Given the description of an element on the screen output the (x, y) to click on. 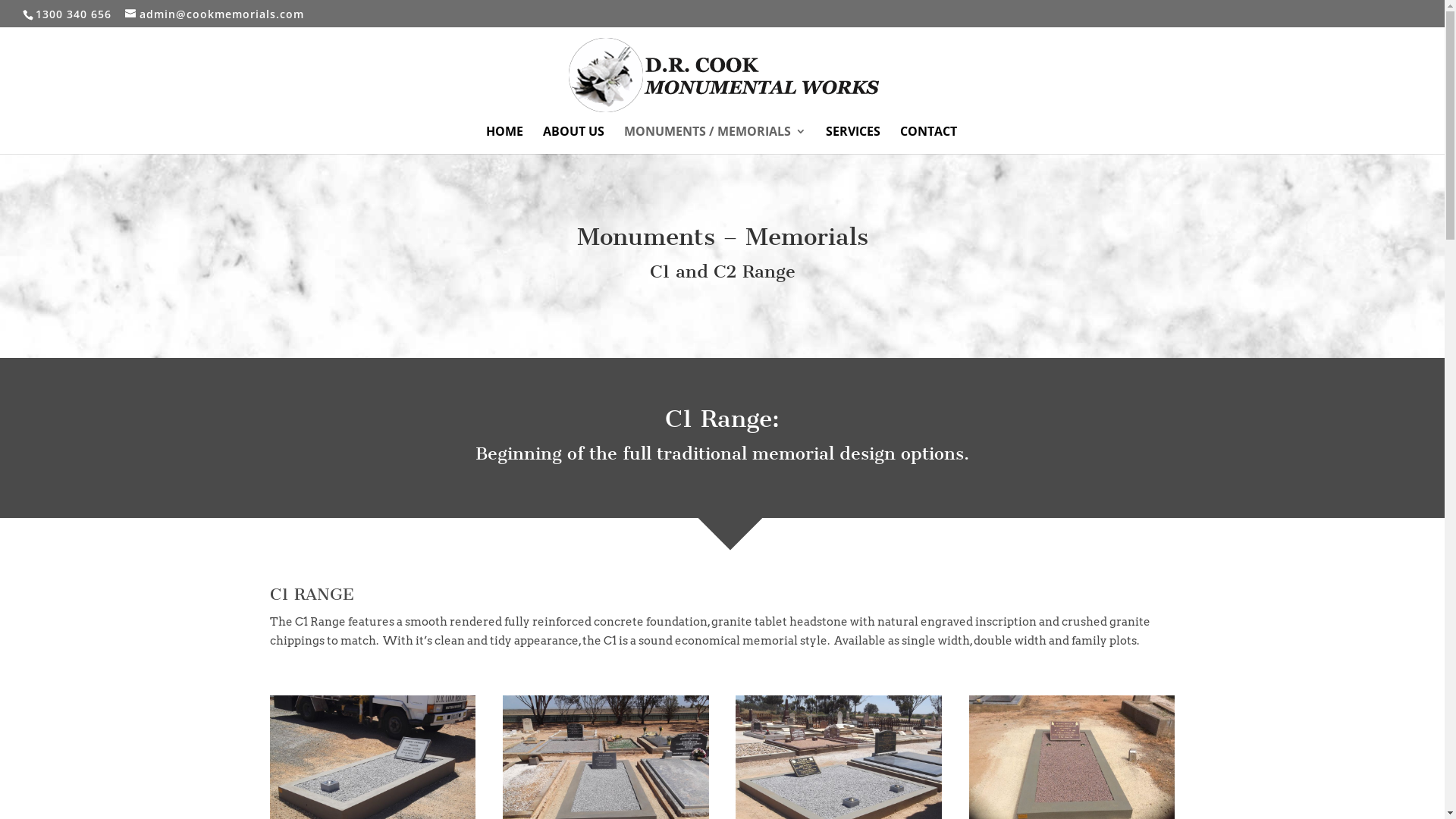
admin@cookmemorials.com Element type: text (214, 13)
MONUMENTS / MEMORIALS Element type: text (715, 139)
SERVICES Element type: text (852, 139)
ABOUT US Element type: text (573, 139)
CONTACT Element type: text (928, 139)
HOME Element type: text (504, 139)
